Given the description of an element on the screen output the (x, y) to click on. 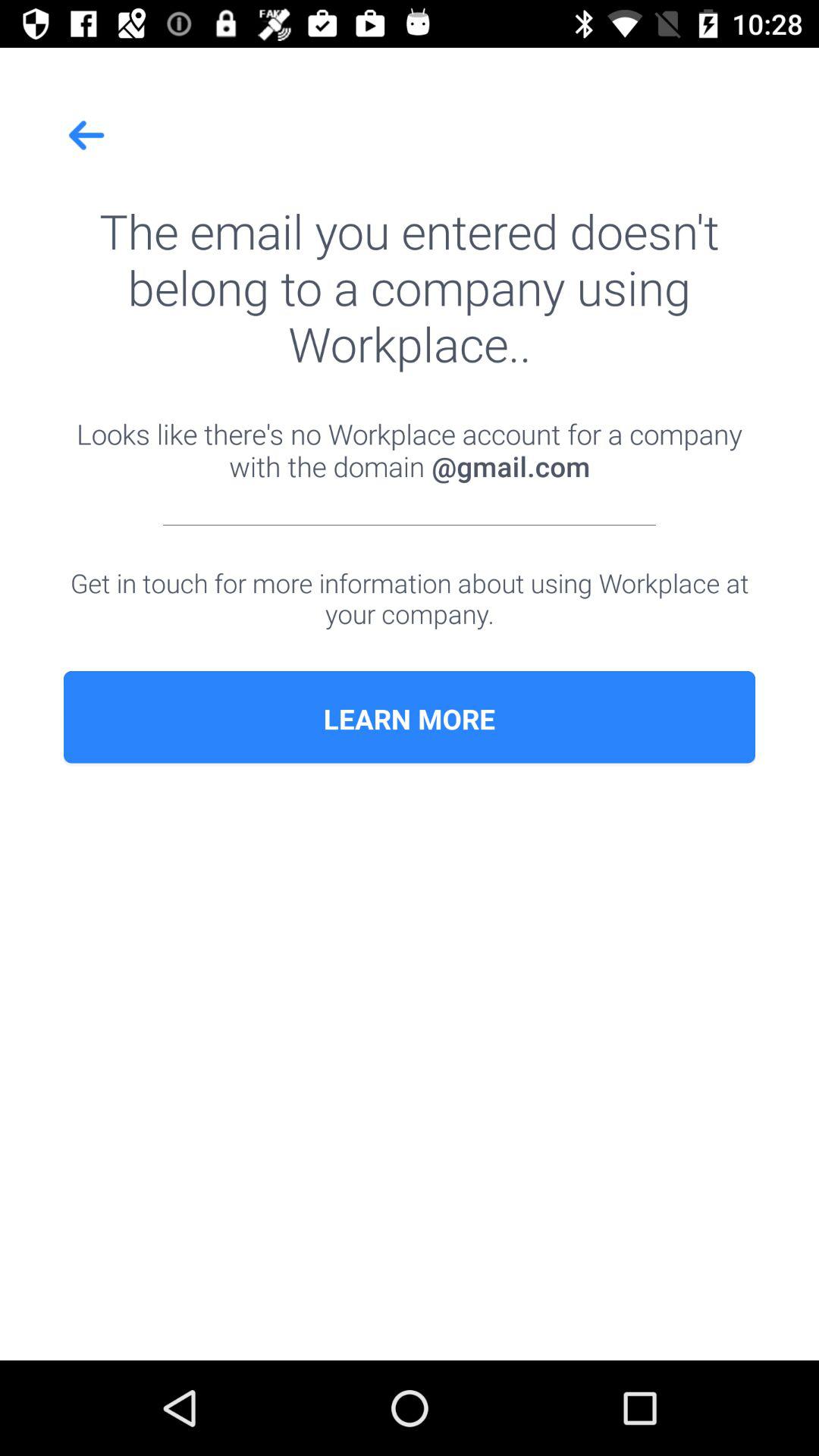
launch item below the get in touch (409, 718)
